Given the description of an element on the screen output the (x, y) to click on. 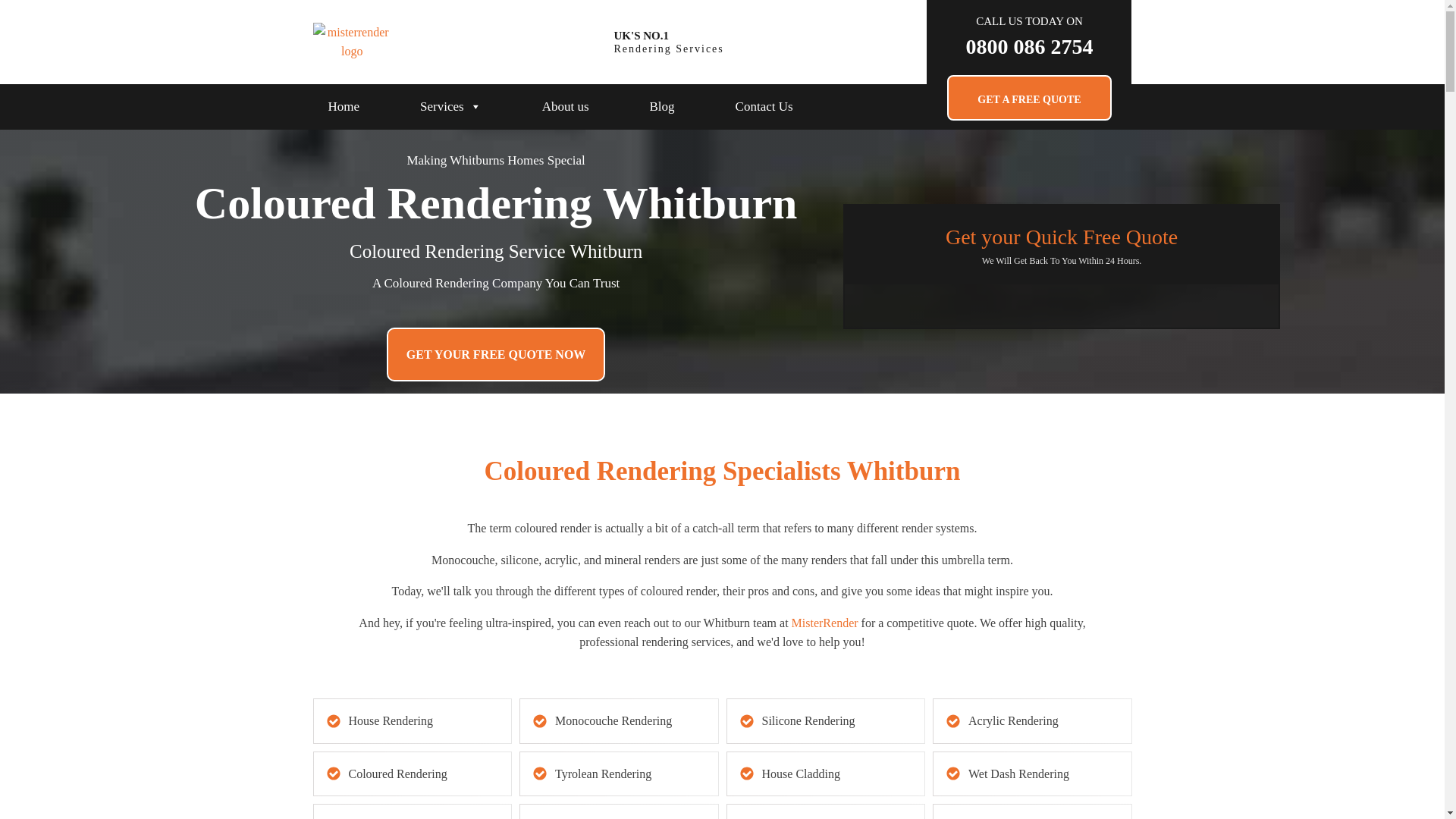
GET YOUR FREE QUOTE NOW (496, 354)
Contact Us (764, 106)
MisterRender (825, 622)
About us (566, 106)
Blog (662, 106)
0800 086 2754 (1029, 47)
Home (343, 106)
GET A FREE QUOTE (1028, 97)
Services (451, 106)
